Given the description of an element on the screen output the (x, y) to click on. 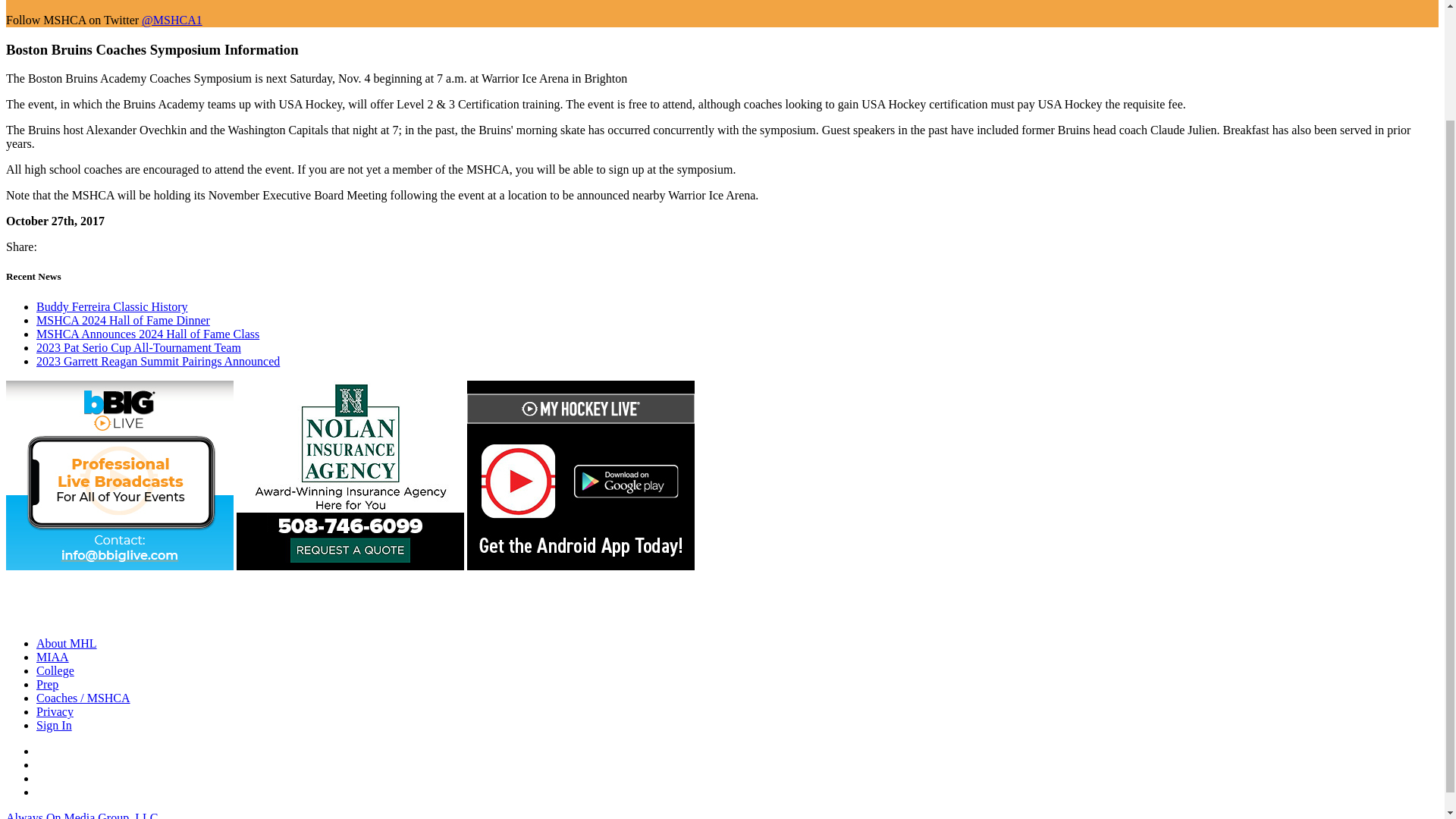
2023 Garrett Reagan Summit Pairings Announced (157, 360)
Buddy Ferreira Classic History (111, 306)
Prep (47, 684)
2023 Pat Serio Cup All-Tournament Team (138, 347)
MHL Home (83, 617)
Nolan Insurance (349, 565)
College (55, 670)
MSHCA Announces 2024 Hall of Fame Class (147, 333)
Sign In (53, 725)
Mobile App Google (580, 565)
MSHCA 2024 Hall of Fame Dinner (122, 319)
Privacy (55, 711)
bBIG Live (118, 565)
About MHL (66, 643)
MIAA (52, 656)
